Given the description of an element on the screen output the (x, y) to click on. 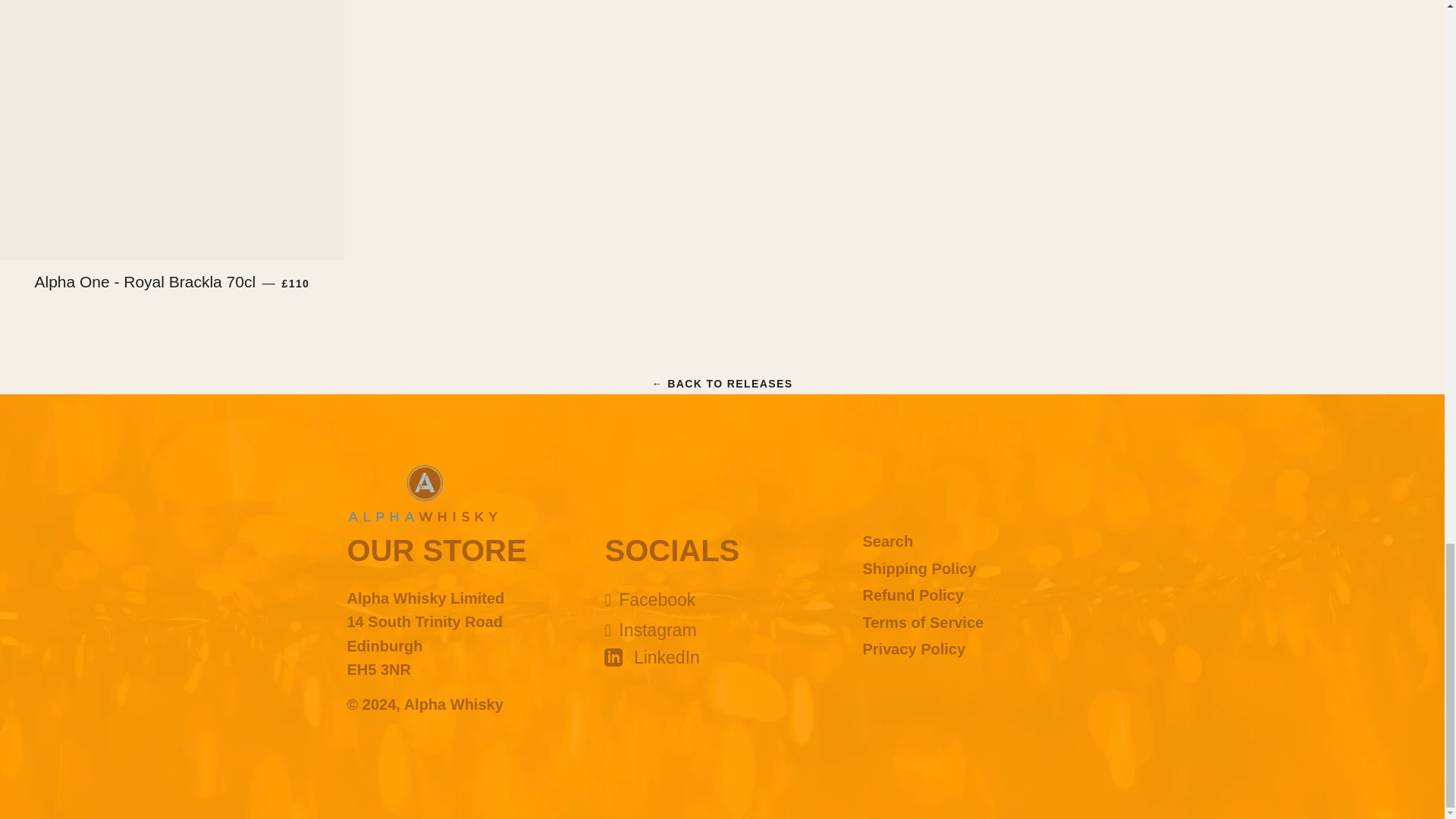
Alpha Whisky on Instagram (649, 629)
Alpha Whisky on Facebook (649, 599)
